Given the description of an element on the screen output the (x, y) to click on. 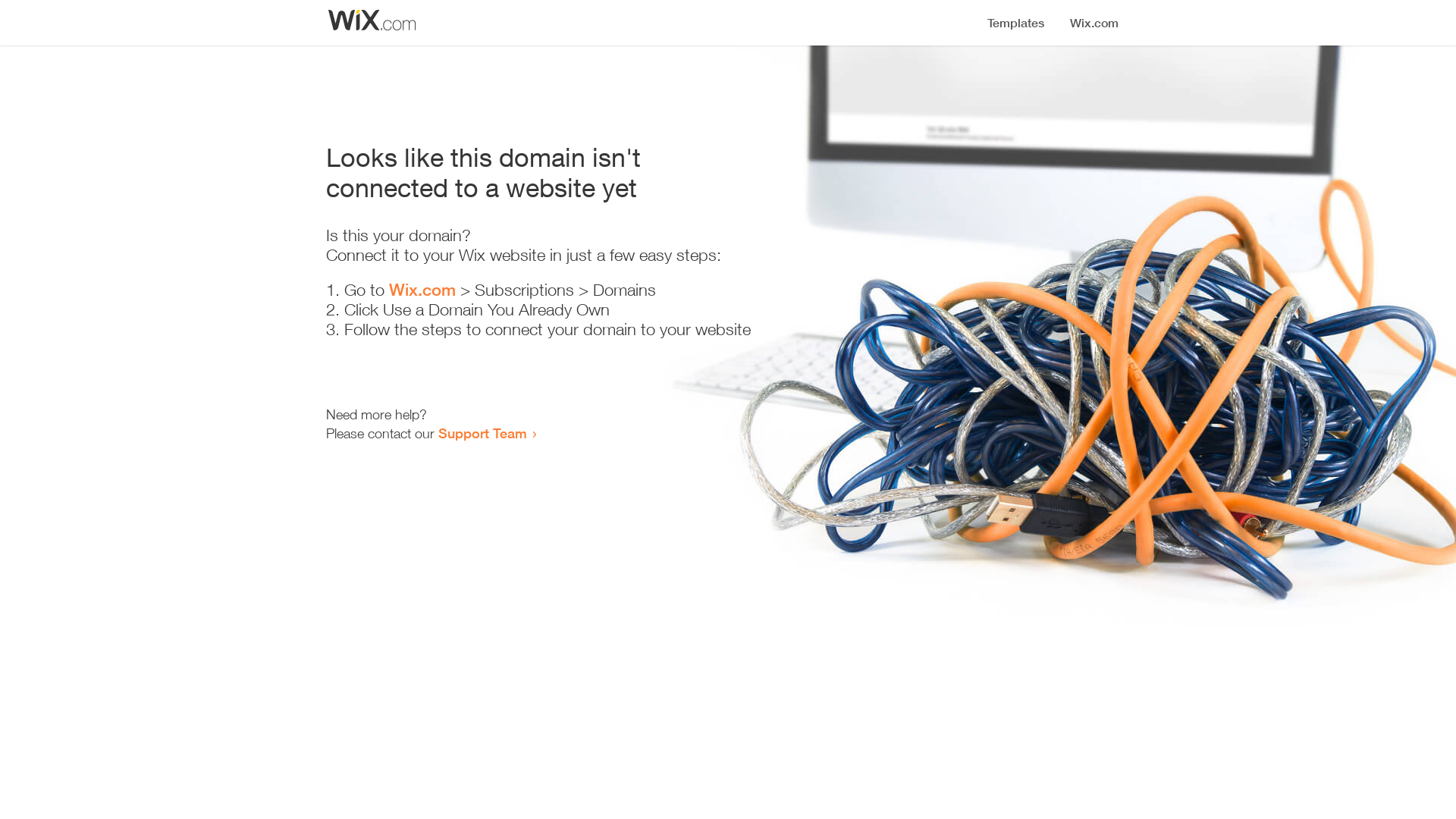
Support Team Element type: text (482, 432)
Wix.com Element type: text (422, 289)
